Given the description of an element on the screen output the (x, y) to click on. 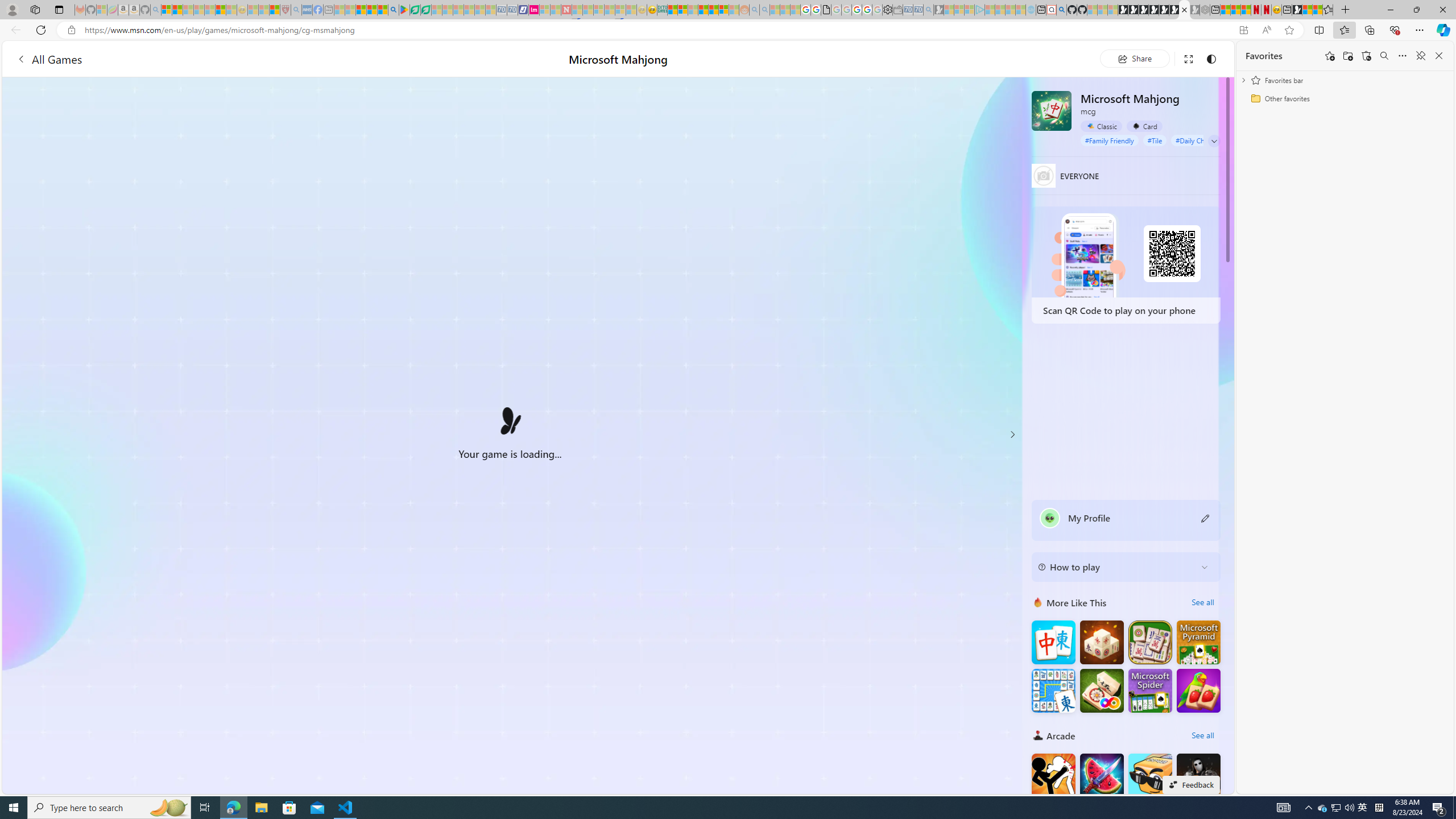
All Games (49, 58)
Daily Mahjong (1149, 642)
Local - MSN (274, 9)
All Games (216, 58)
